Given the description of an element on the screen output the (x, y) to click on. 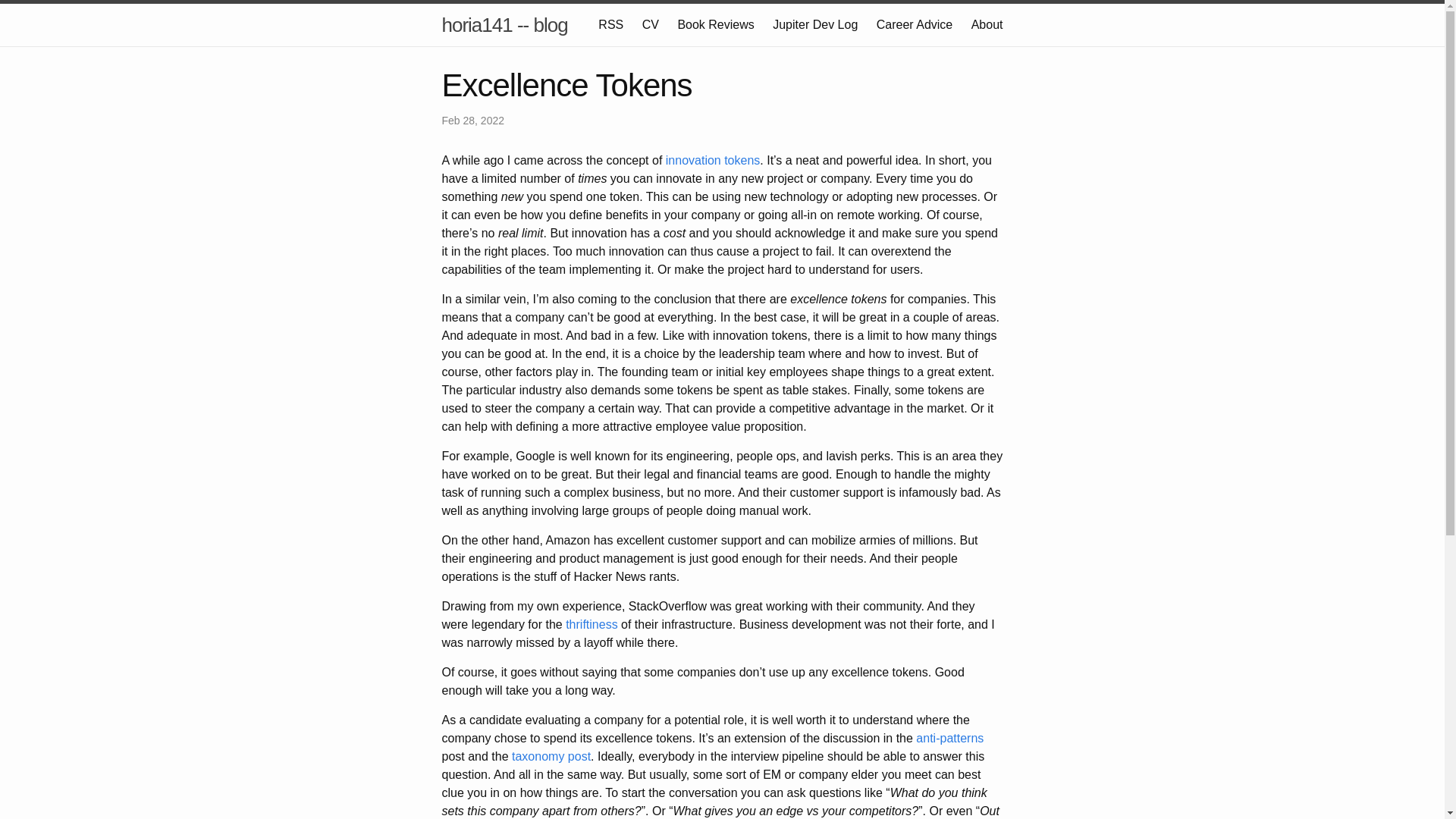
taxonomy post (551, 756)
Jupiter Dev Log (815, 24)
anti-patterns (949, 738)
RSS (610, 24)
innovation tokens (712, 160)
horia141 -- blog (504, 24)
thriftiness (591, 624)
Book Reviews (715, 24)
About (987, 24)
CV (650, 24)
Career Advice (914, 24)
